Given the description of an element on the screen output the (x, y) to click on. 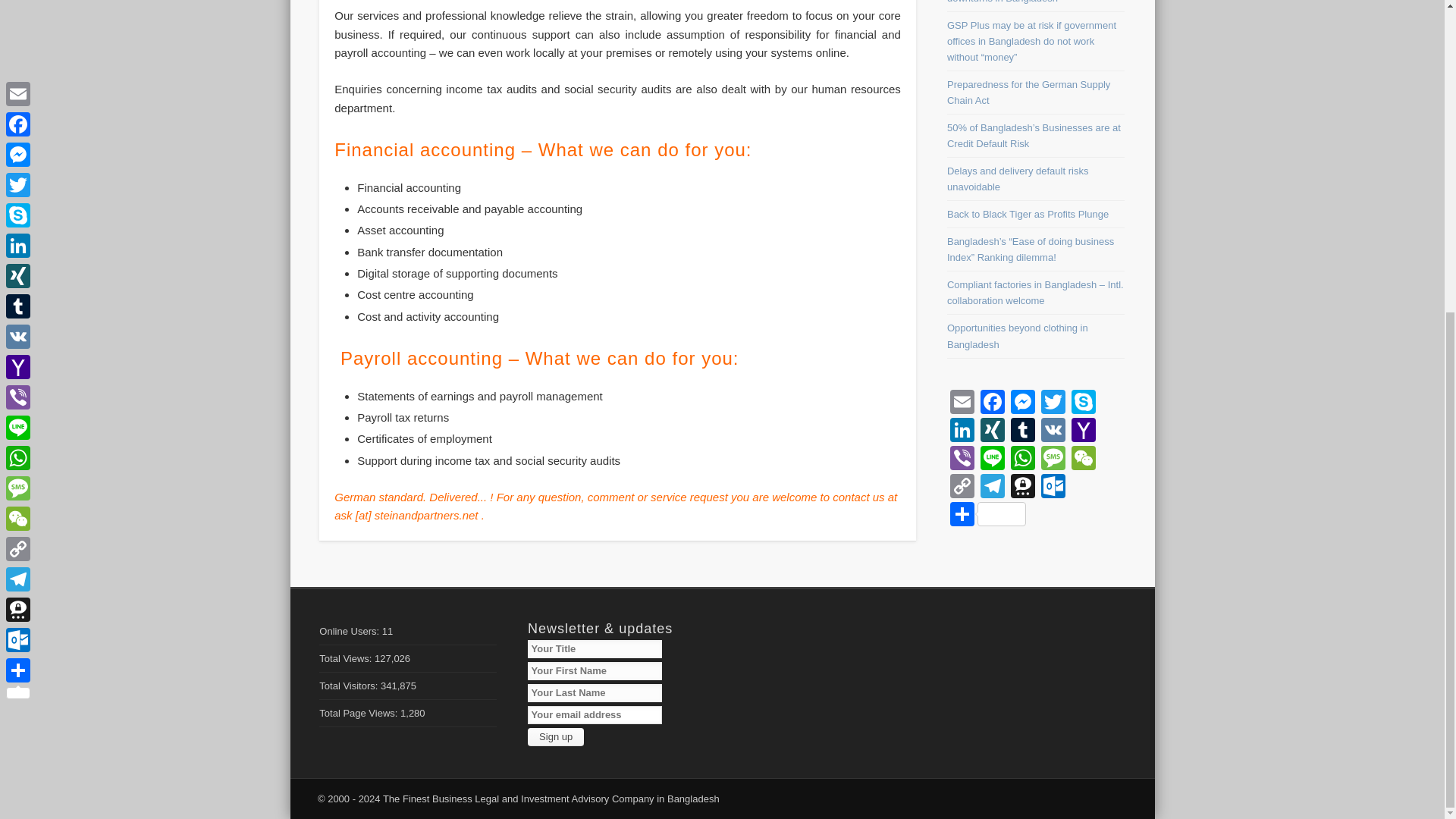
Message (1053, 459)
Copy Link (961, 488)
Sign up (555, 737)
Twitter (1053, 403)
Yahoo Mail (1083, 431)
Preparedness for the German Supply Chain Act (1028, 92)
WeChat (1083, 459)
Line (991, 459)
XING (991, 431)
WhatsApp (1022, 459)
